Given the description of an element on the screen output the (x, y) to click on. 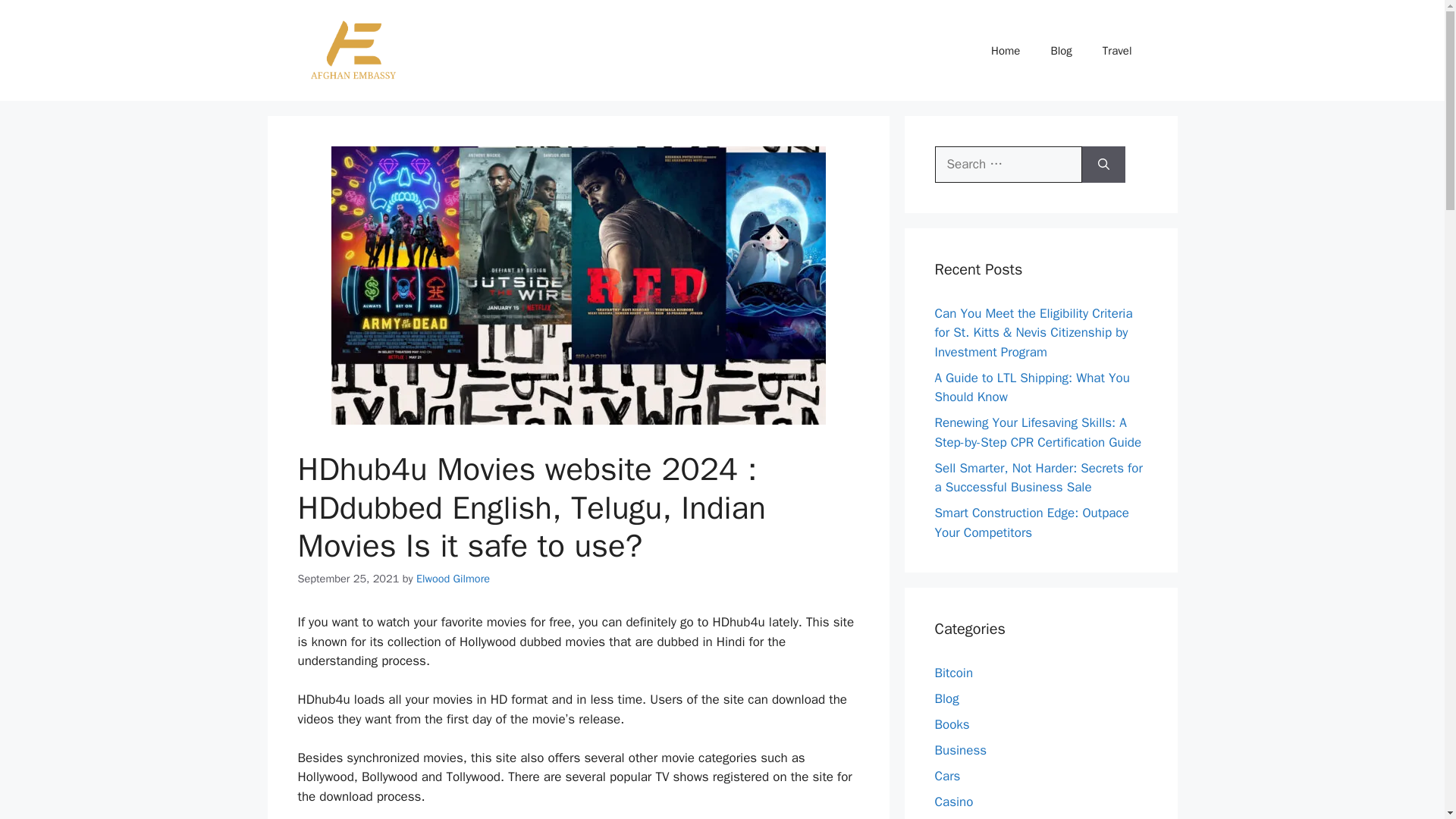
Travel (1117, 50)
Cars (946, 775)
Elwood Gilmore (452, 578)
Home (1005, 50)
A Guide to LTL Shipping: What You Should Know (1031, 387)
Search for: (1007, 164)
Bitcoin (953, 672)
Blog (946, 698)
